Given the description of an element on the screen output the (x, y) to click on. 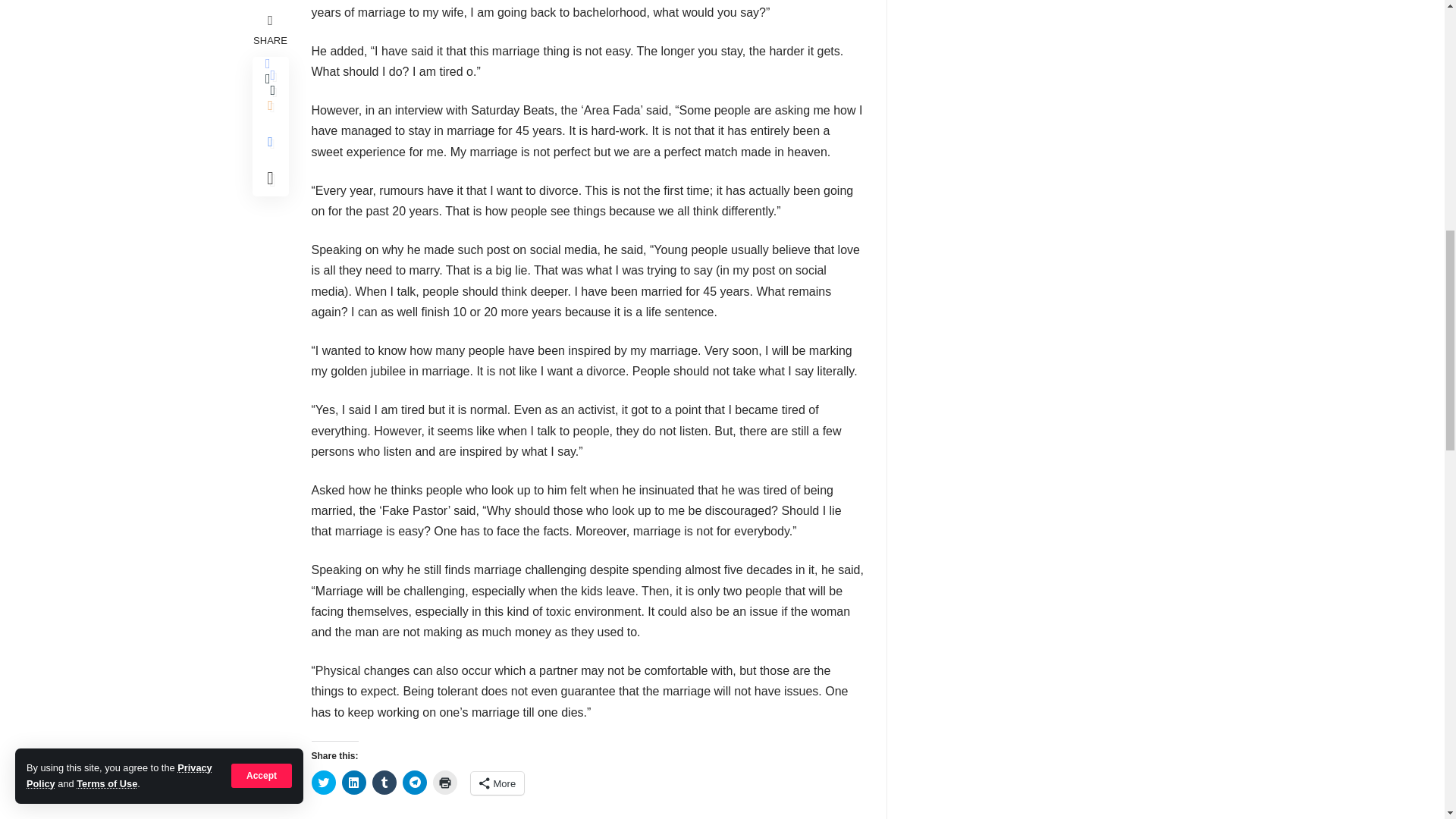
Click to share on LinkedIn (352, 782)
Click to share on Twitter (322, 782)
Click to share on Tumblr (383, 782)
